Given the description of an element on the screen output the (x, y) to click on. 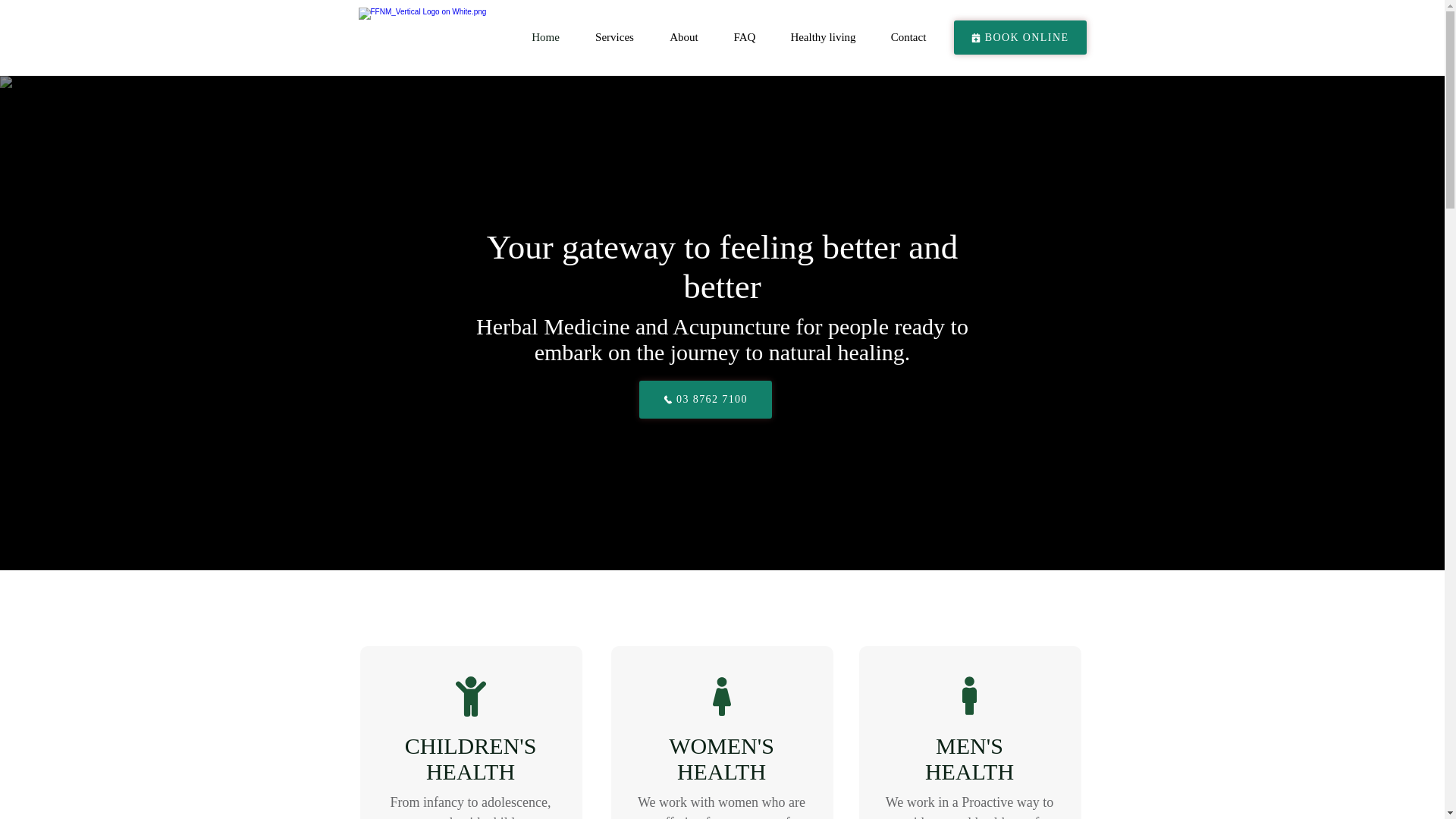
FAQ (744, 37)
About (684, 37)
Services (615, 37)
Healthy living (823, 37)
Contact (908, 37)
Home (545, 37)
BOOK ONLINE (1019, 37)
03 8762 7100 (705, 399)
